Given the description of an element on the screen output the (x, y) to click on. 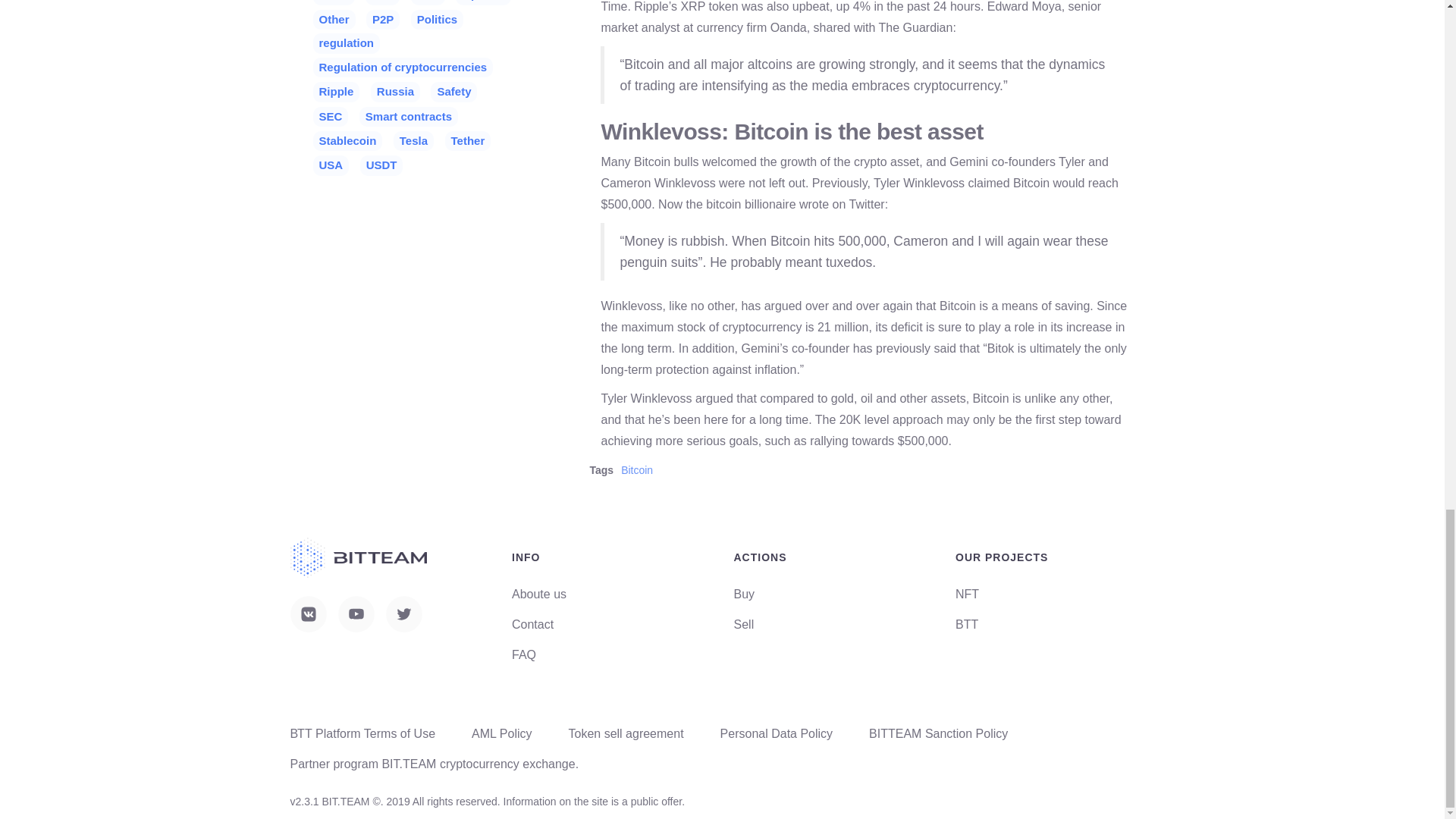
Sell (743, 624)
NFT (966, 594)
Contact (532, 624)
FAQ (523, 654)
BTT (966, 624)
BITTEAM Sanction Policy (938, 733)
Aboute us (539, 594)
AML Policy (501, 733)
Buy (744, 594)
Token sell agreement (626, 733)
Bitcoin (636, 469)
Partner program BIT.TEAM cryptocurrency exchange. (433, 763)
Personal Data Policy (776, 733)
